Given the description of an element on the screen output the (x, y) to click on. 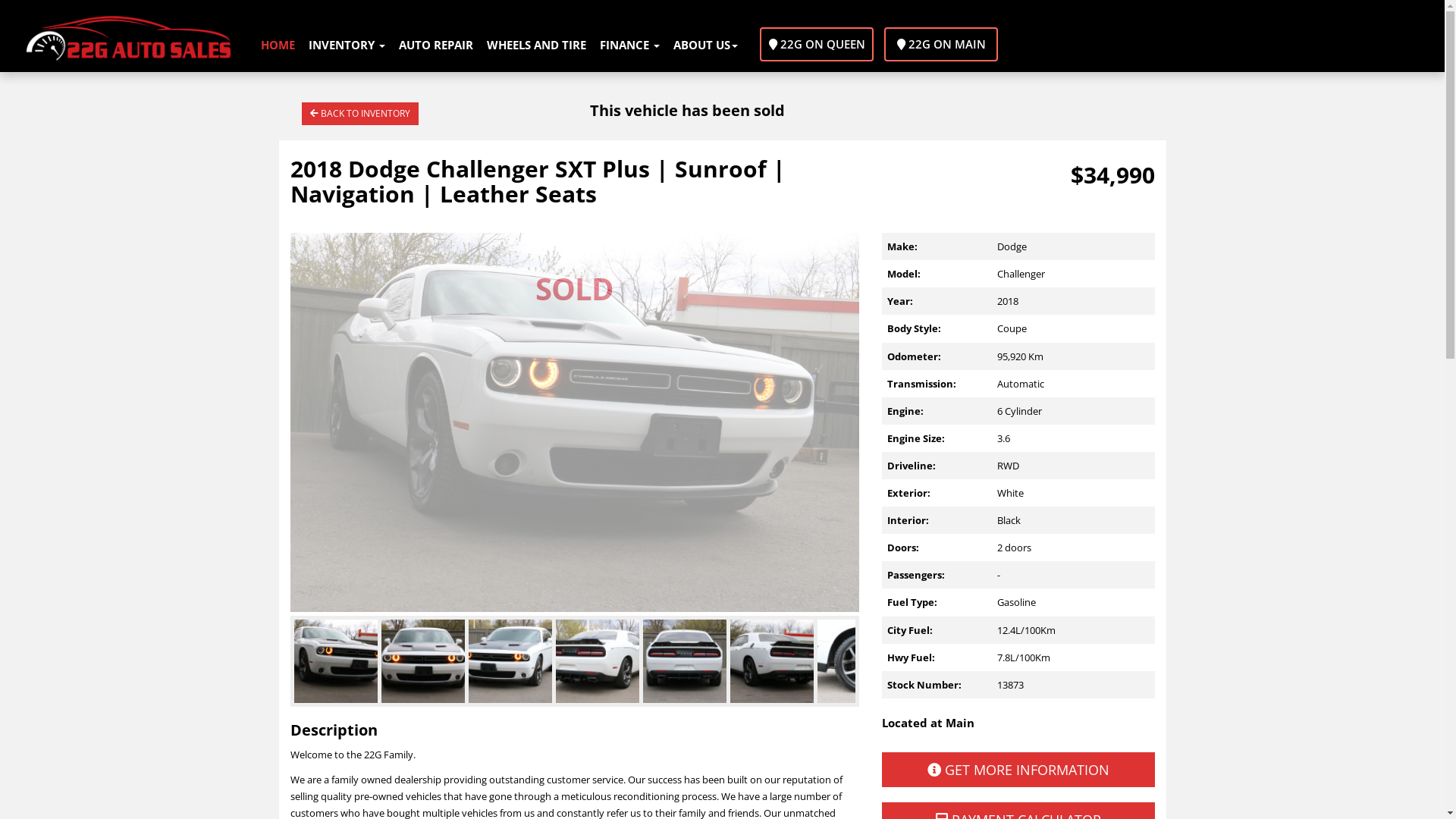
INVENTORY Element type: text (346, 45)
ABOUT US Element type: text (705, 45)
 GET MORE INFORMATION Element type: text (1017, 769)
FINANCE Element type: text (629, 45)
 22G ON MAIN Element type: text (940, 44)
 BACK TO INVENTORY Element type: text (359, 113)
 22G ON QUEEN Element type: text (816, 44)
